Given the description of an element on the screen output the (x, y) to click on. 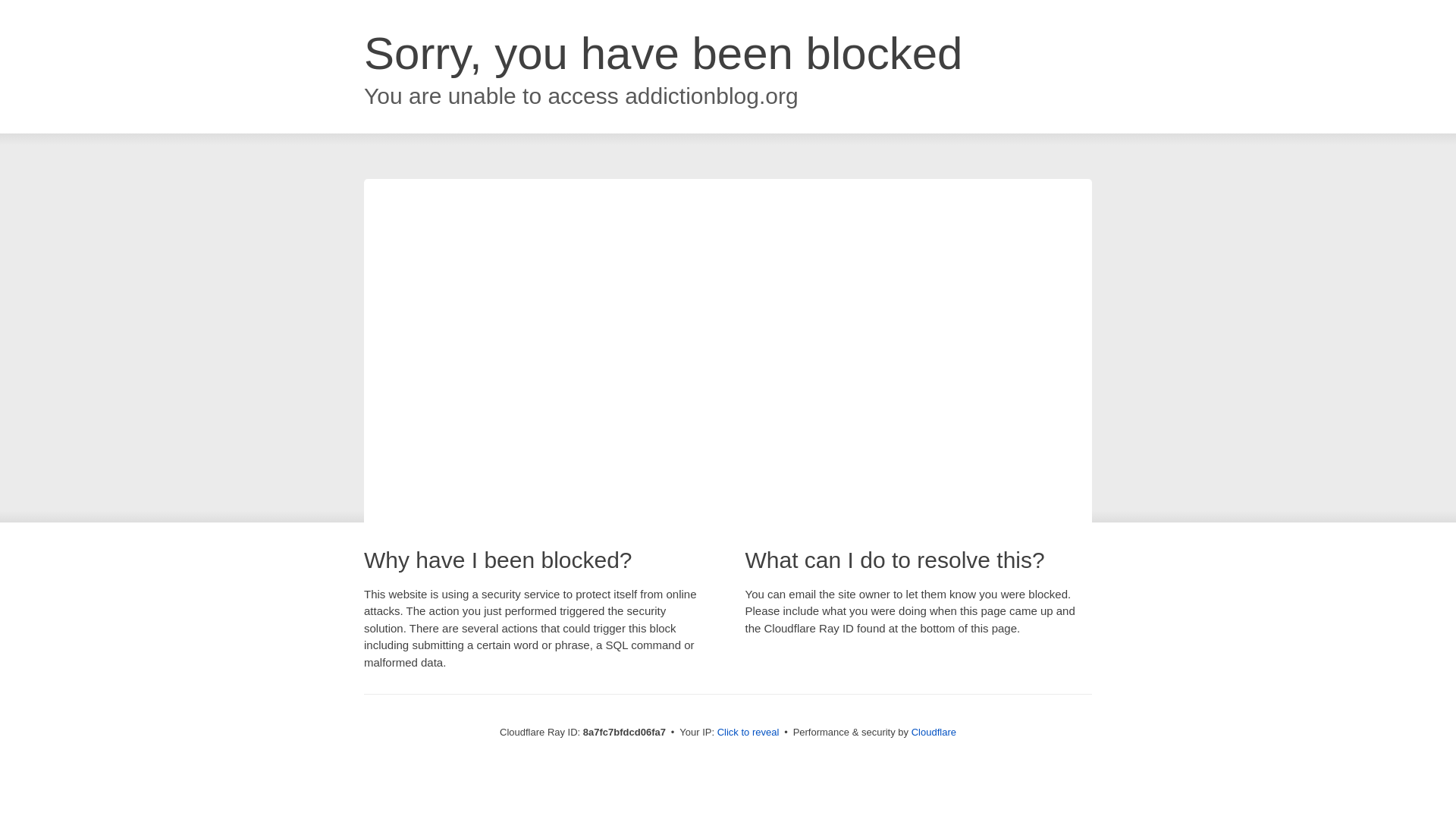
Cloudflare (933, 731)
Click to reveal (747, 732)
